Given the description of an element on the screen output the (x, y) to click on. 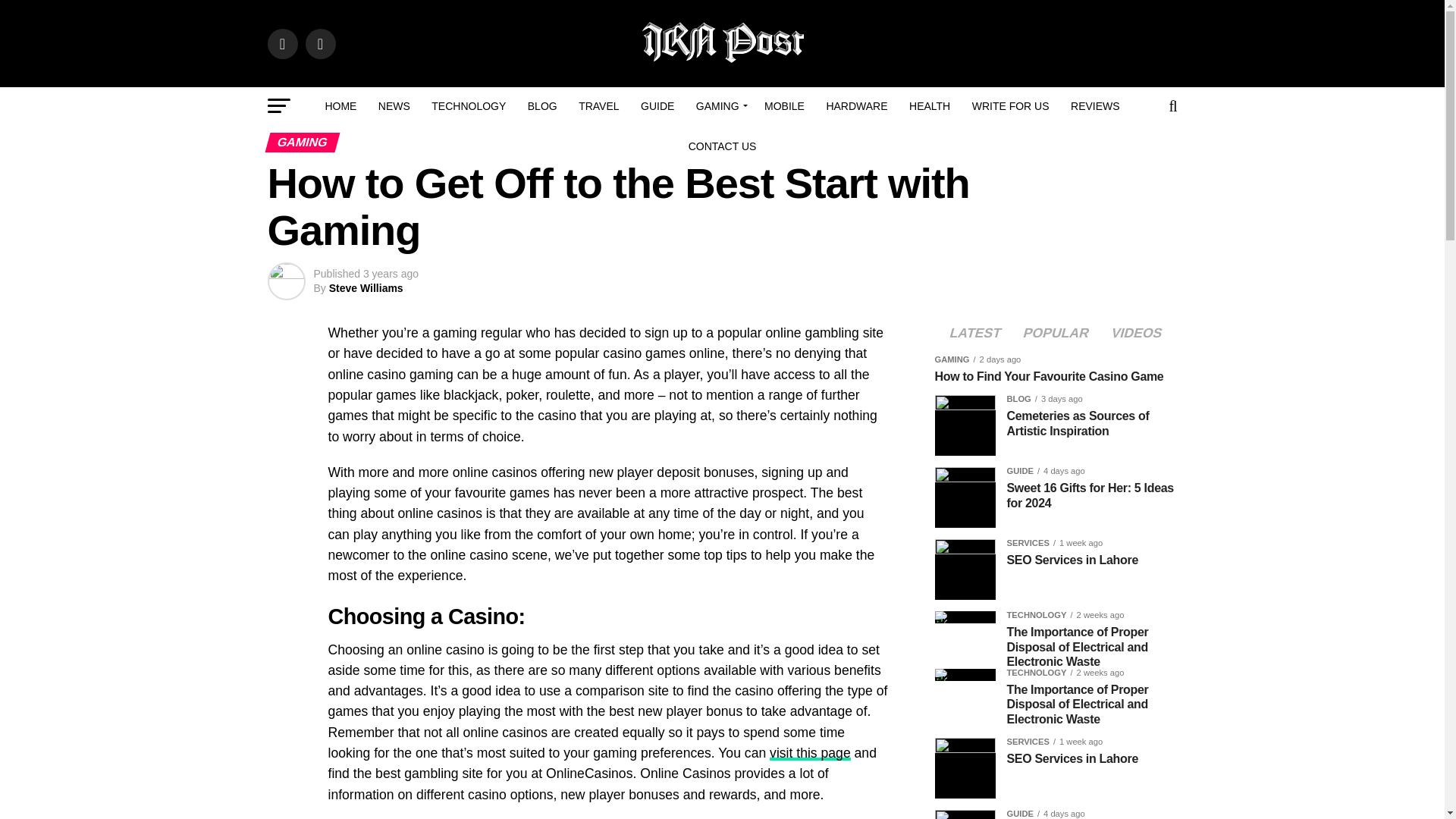
GAMING (719, 105)
TRAVEL (598, 105)
BLOG (542, 105)
Posts by Steve Williams (366, 287)
GUIDE (656, 105)
TECHNOLOGY (468, 105)
HOME (340, 105)
NEWS (394, 105)
